Given the description of an element on the screen output the (x, y) to click on. 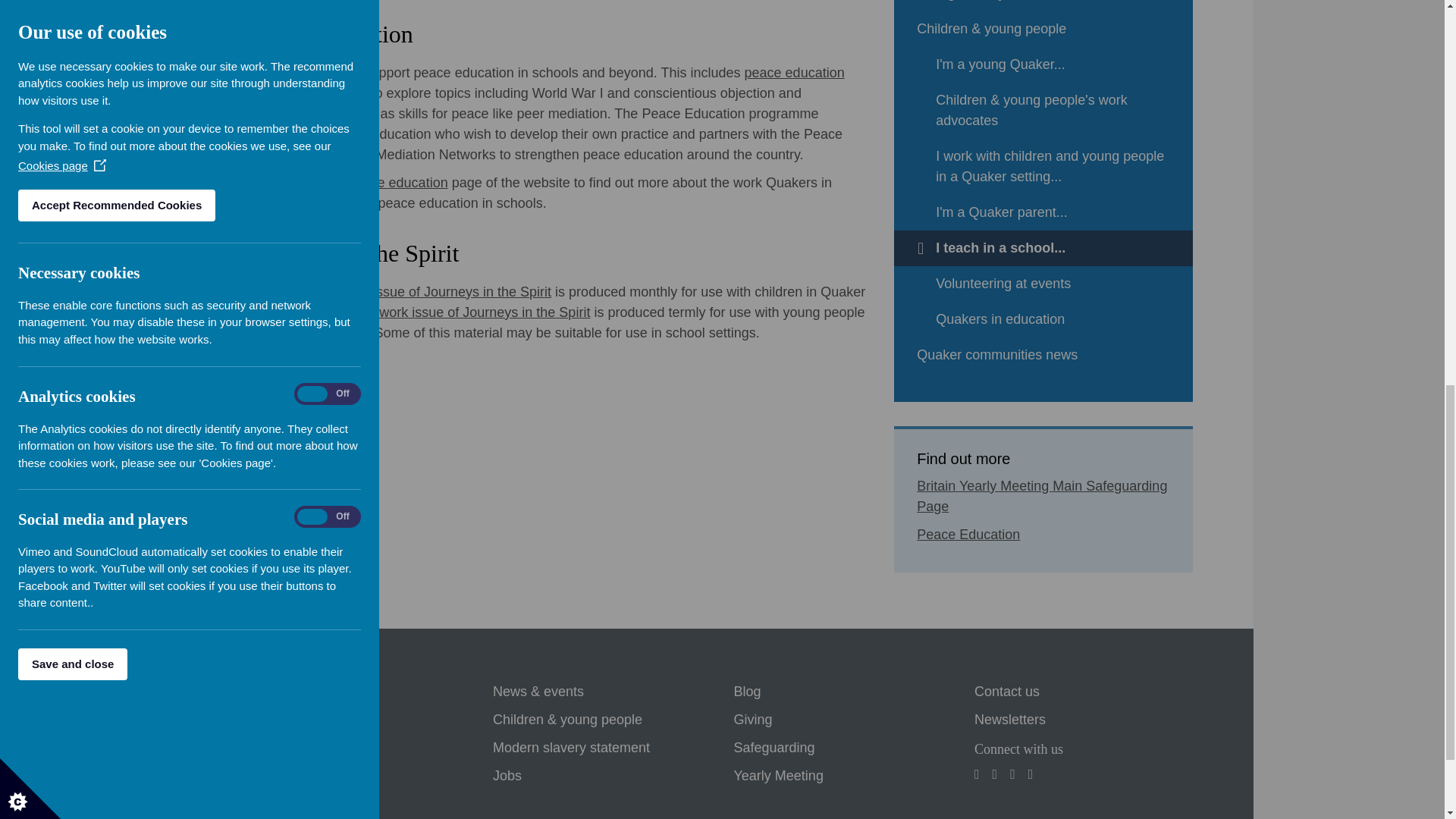
peace education teaching resources (547, 82)
Peace Education (968, 534)
Blog (746, 691)
Volunteering at events (1042, 284)
Our organisation (301, 775)
Young adult Quakers (1042, 5)
I teach in a school... (1042, 248)
Quakers in education (1042, 319)
Modern slavery statement (571, 747)
peace education (397, 182)
